Given the description of an element on the screen output the (x, y) to click on. 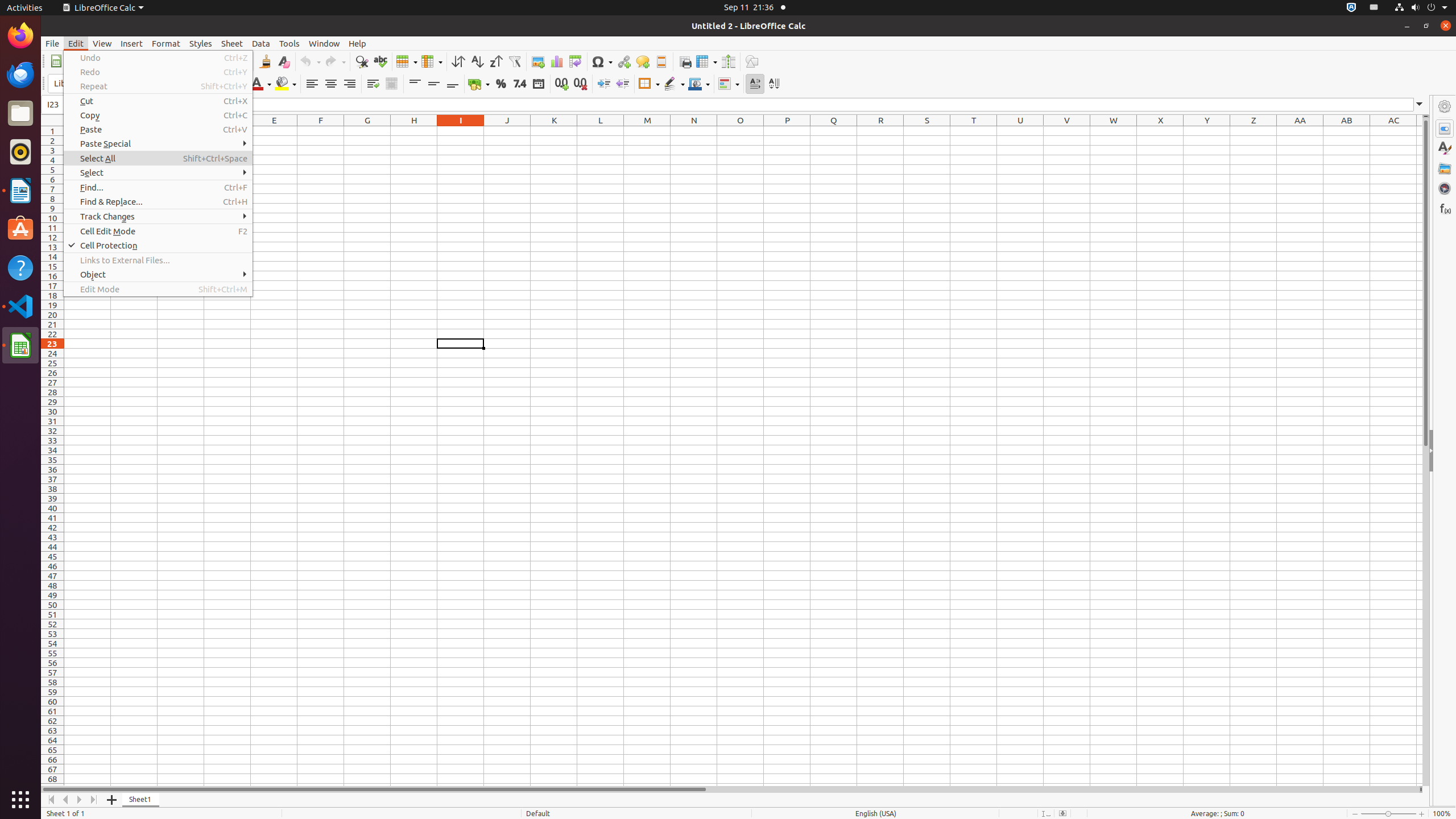
Sort Ascending Element type: push-button (476, 61)
Borders (Shift to overwrite) Element type: push-button (648, 83)
Window Element type: menu (324, 43)
Percent Element type: push-button (500, 83)
Select Element type: menu (157, 172)
